Given the description of an element on the screen output the (x, y) to click on. 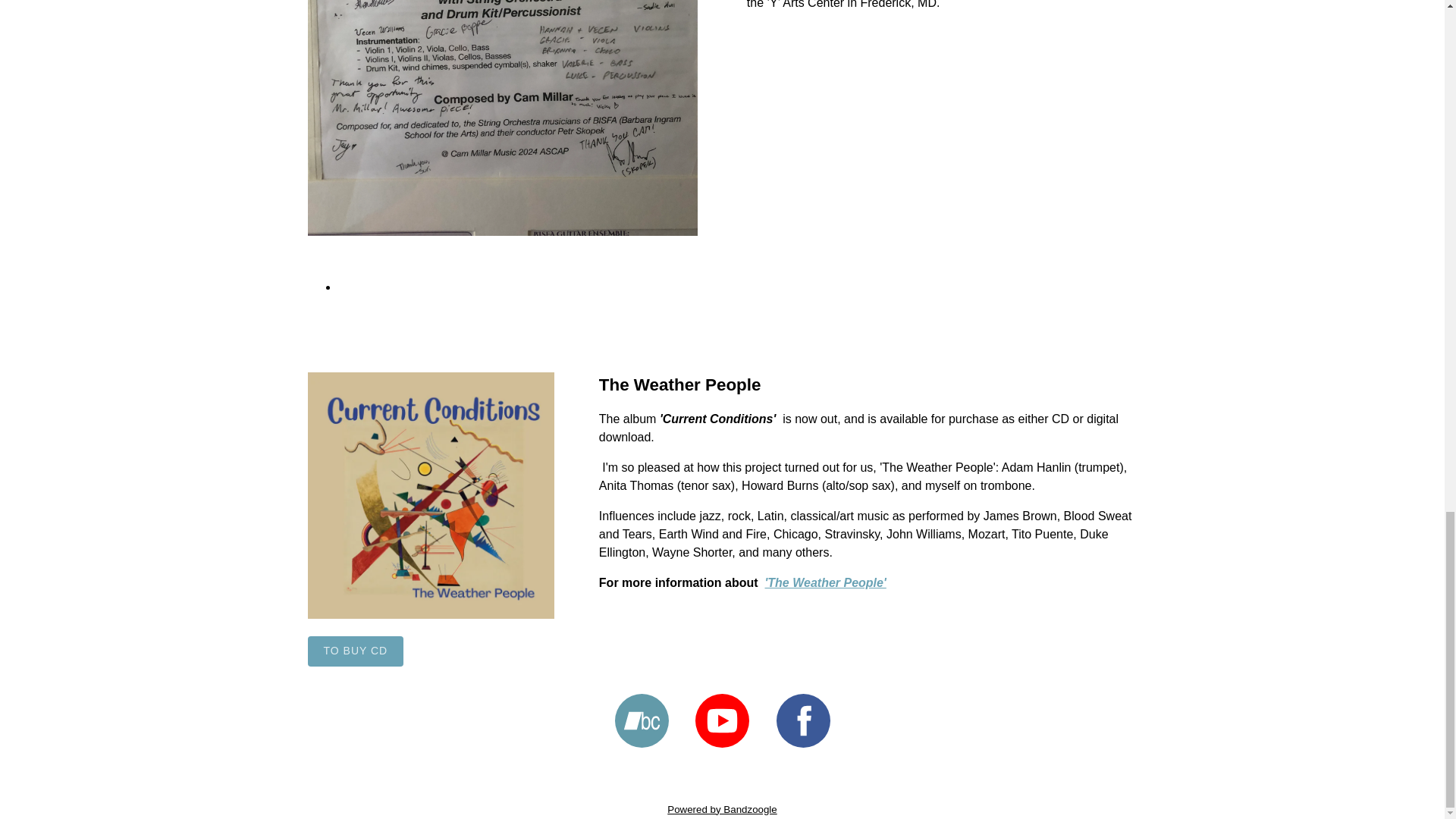
Powered by Bandzoogle (721, 808)
TO BUY CD (355, 651)
'The Weather People' (825, 582)
Powered by Bandzoogle (721, 808)
